Given the description of an element on the screen output the (x, y) to click on. 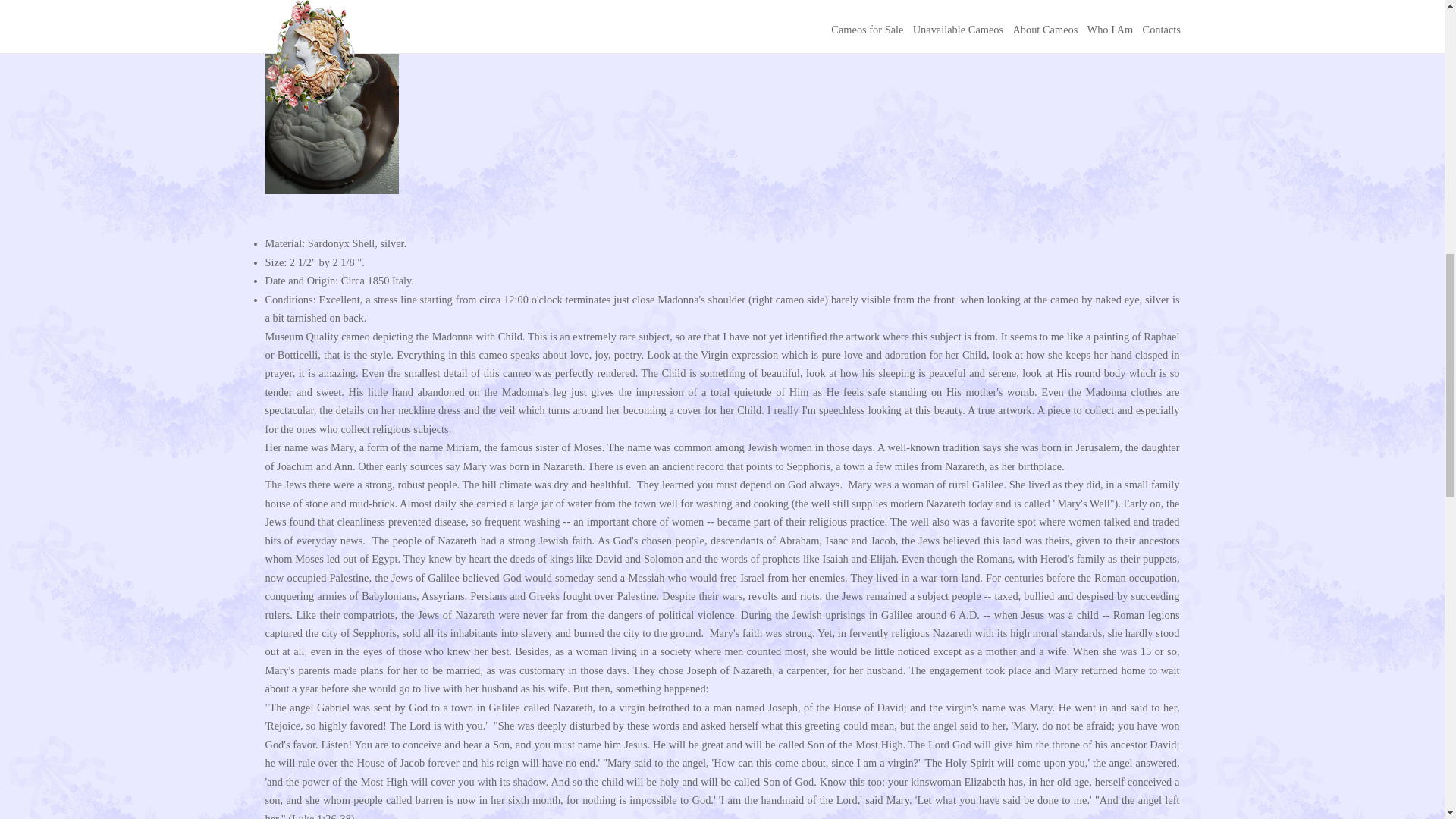
Madonna with Child (1112, 17)
Madonna with Child (331, 17)
Madonna with Child (800, 17)
Madonna with Child (644, 17)
Madonna with Child (331, 189)
Madonna with Child (956, 17)
Madonna with Child (488, 17)
